Given the description of an element on the screen output the (x, y) to click on. 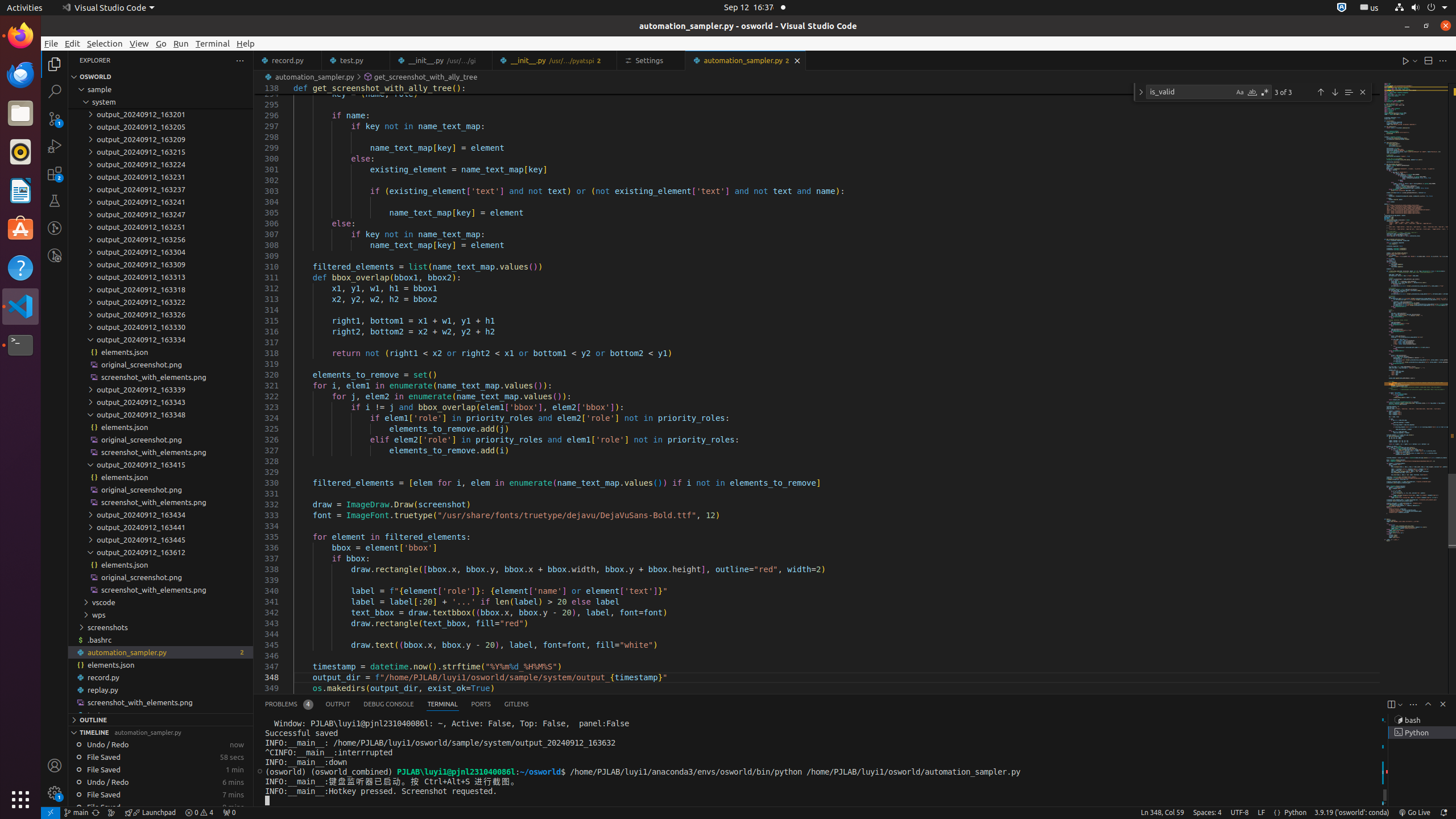
Editor Language Status: Auto Import Completions: false, next: Type Checking: off Element type: push-button (1277, 812)
output_20240912_163322 Element type: tree-item (160, 301)
.bashrc Element type: tree-item (160, 639)
